Given the description of an element on the screen output the (x, y) to click on. 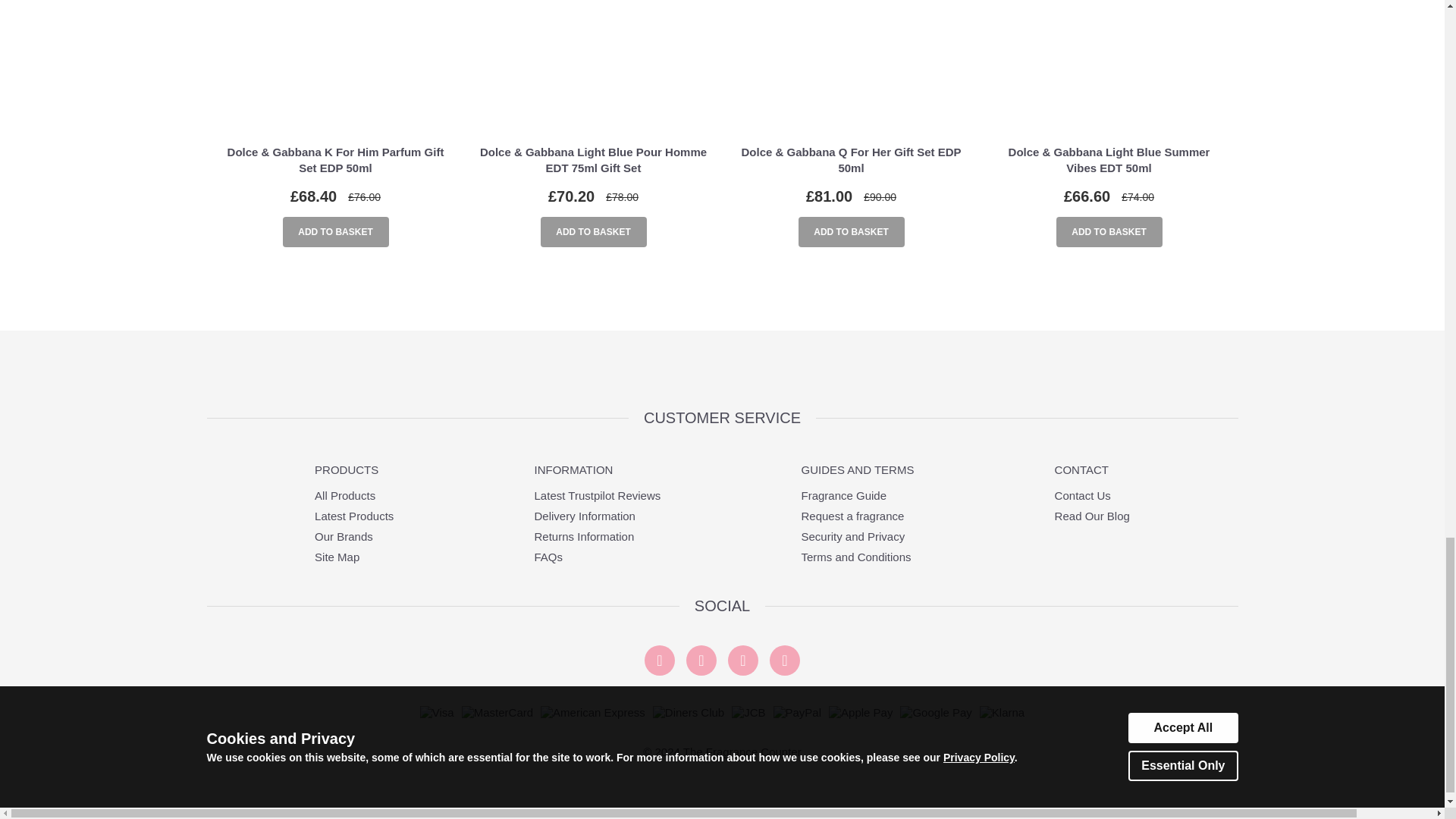
Customer reviews powered by Trustpilot (721, 370)
